Given the description of an element on the screen output the (x, y) to click on. 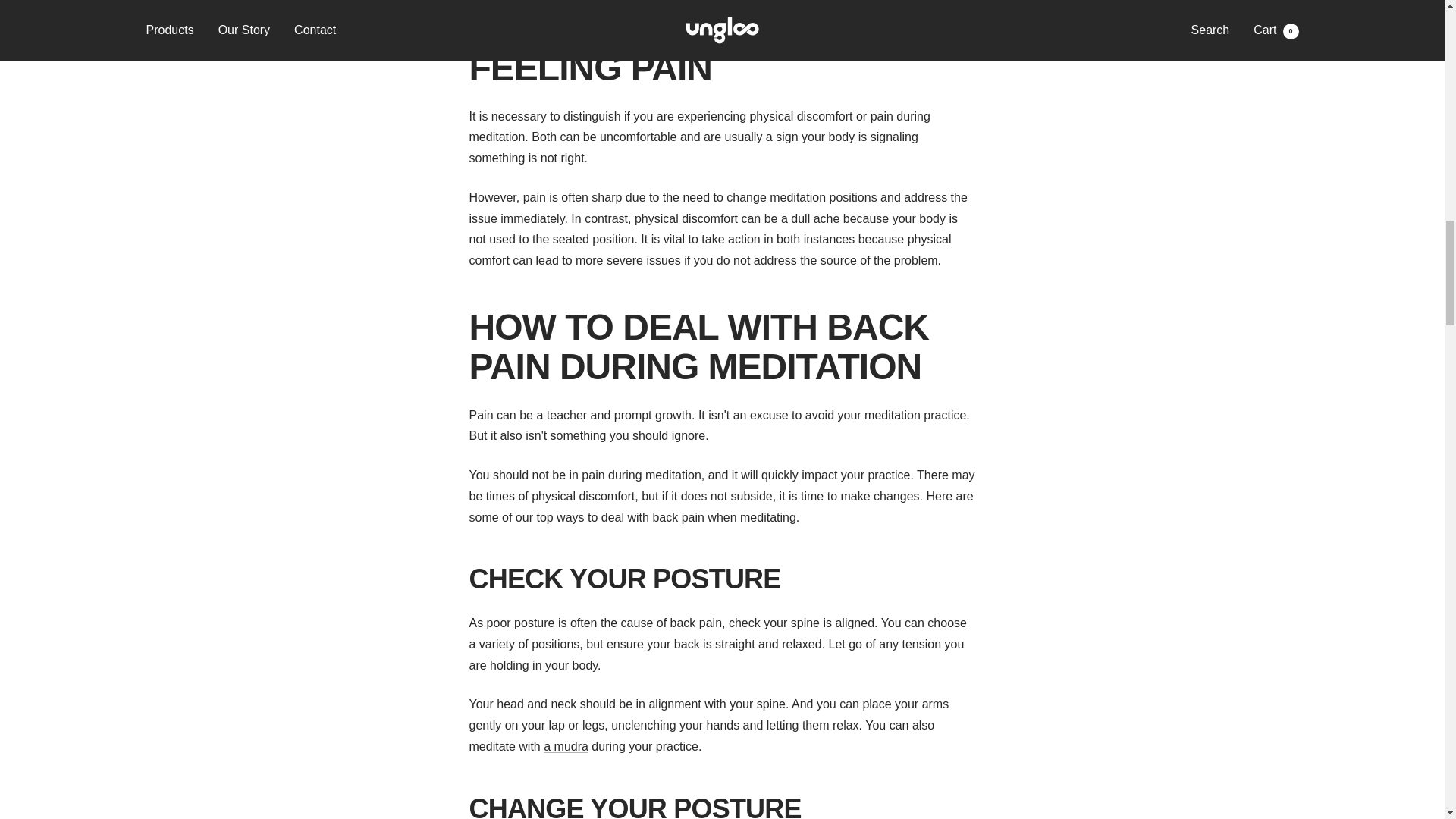
a mudra (565, 746)
